Given the description of an element on the screen output the (x, y) to click on. 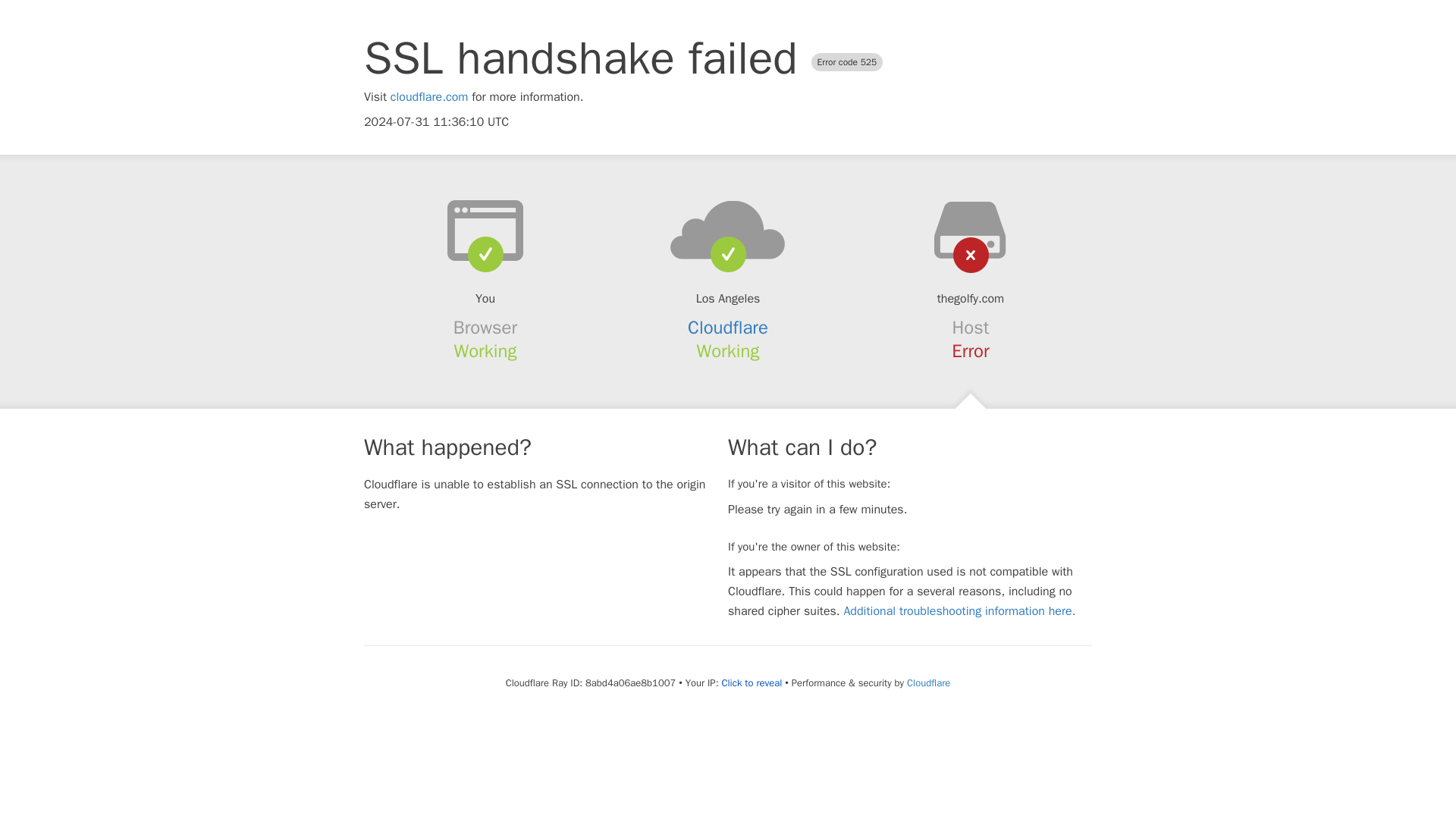
Click to reveal (750, 683)
Additional troubleshooting information here. (959, 611)
cloudflare.com (429, 96)
Cloudflare (727, 327)
Cloudflare (928, 682)
